Given the description of an element on the screen output the (x, y) to click on. 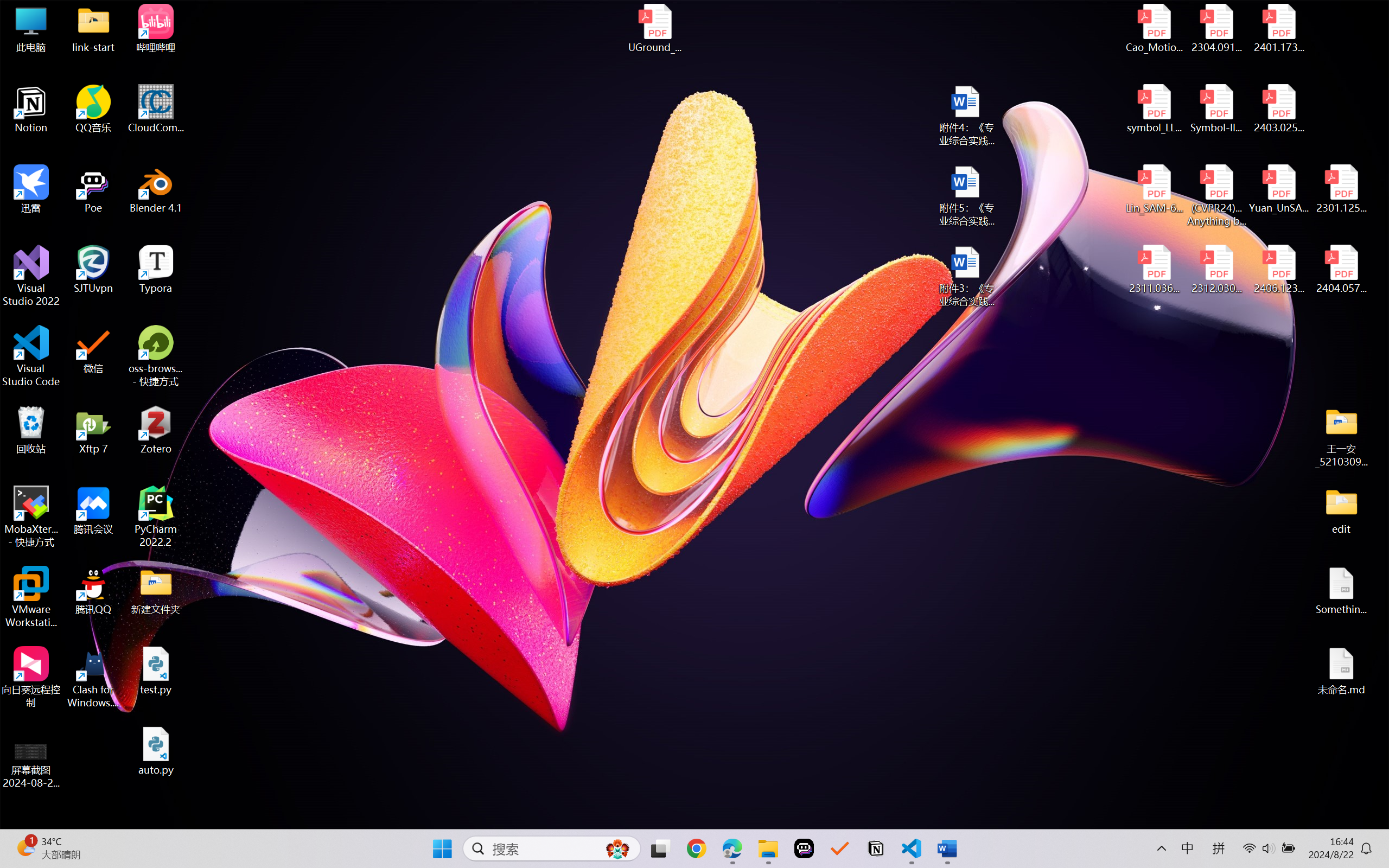
Google Chrome (696, 848)
PyCharm 2022.2 (156, 516)
2404.05719v1.pdf (1340, 269)
2312.03032v2.pdf (1216, 269)
Typora (156, 269)
UGround_paper.pdf (654, 28)
